Given the description of an element on the screen output the (x, y) to click on. 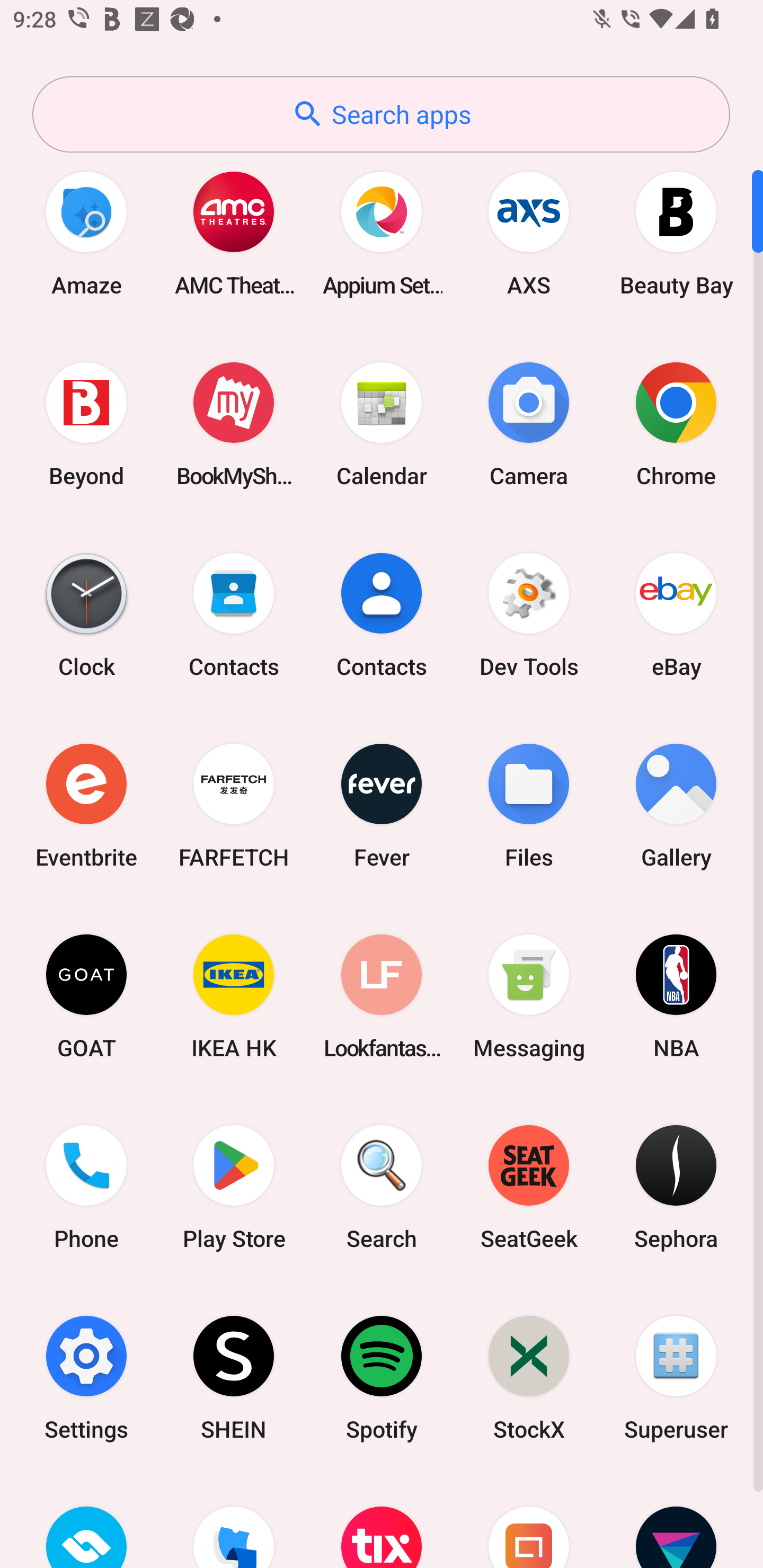
  Search apps (381, 114)
Amaze (86, 233)
AMC Theatres (233, 233)
Appium Settings (381, 233)
AXS (528, 233)
Beauty Bay (676, 233)
Beyond (86, 424)
BookMyShow (233, 424)
Calendar (381, 424)
Camera (528, 424)
Chrome (676, 424)
Clock (86, 614)
Contacts (233, 614)
Contacts (381, 614)
Dev Tools (528, 614)
eBay (676, 614)
Eventbrite (86, 805)
FARFETCH (233, 805)
Fever (381, 805)
Files (528, 805)
Gallery (676, 805)
GOAT (86, 996)
IKEA HK (233, 996)
Lookfantastic (381, 996)
Messaging (528, 996)
NBA (676, 996)
Phone (86, 1186)
Play Store (233, 1186)
Search (381, 1186)
SeatGeek (528, 1186)
Sephora (676, 1186)
Settings (86, 1377)
SHEIN (233, 1377)
Spotify (381, 1377)
StockX (528, 1377)
Superuser (676, 1377)
TicketSwap (86, 1520)
TickPick (233, 1520)
TodayTix (381, 1520)
Urban Ladder (528, 1520)
Vivid Seats (676, 1520)
